Given the description of an element on the screen output the (x, y) to click on. 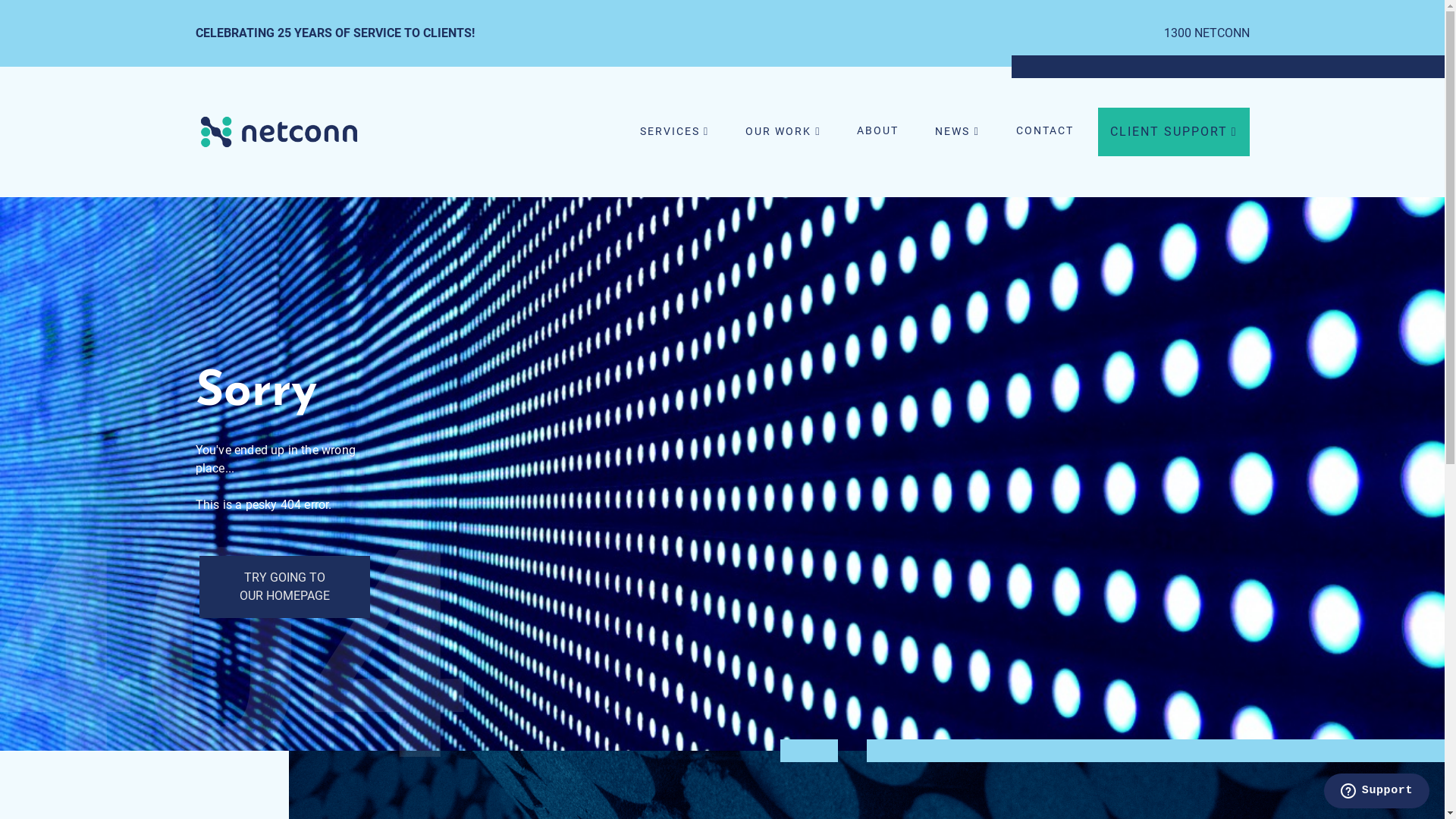
CLIENT SUPPORT Element type: text (1173, 131)
TRY GOING TO OUR HOMEPAGE Element type: text (284, 586)
CONTACT Element type: text (1044, 130)
Opens a widget where you can find more information Element type: hover (1376, 792)
SERVICES Element type: text (674, 131)
NEWS Element type: text (956, 131)
1300 NETCONN Element type: text (1205, 32)
ABOUT Element type: text (877, 130)
OUR WORK Element type: text (782, 131)
